Given the description of an element on the screen output the (x, y) to click on. 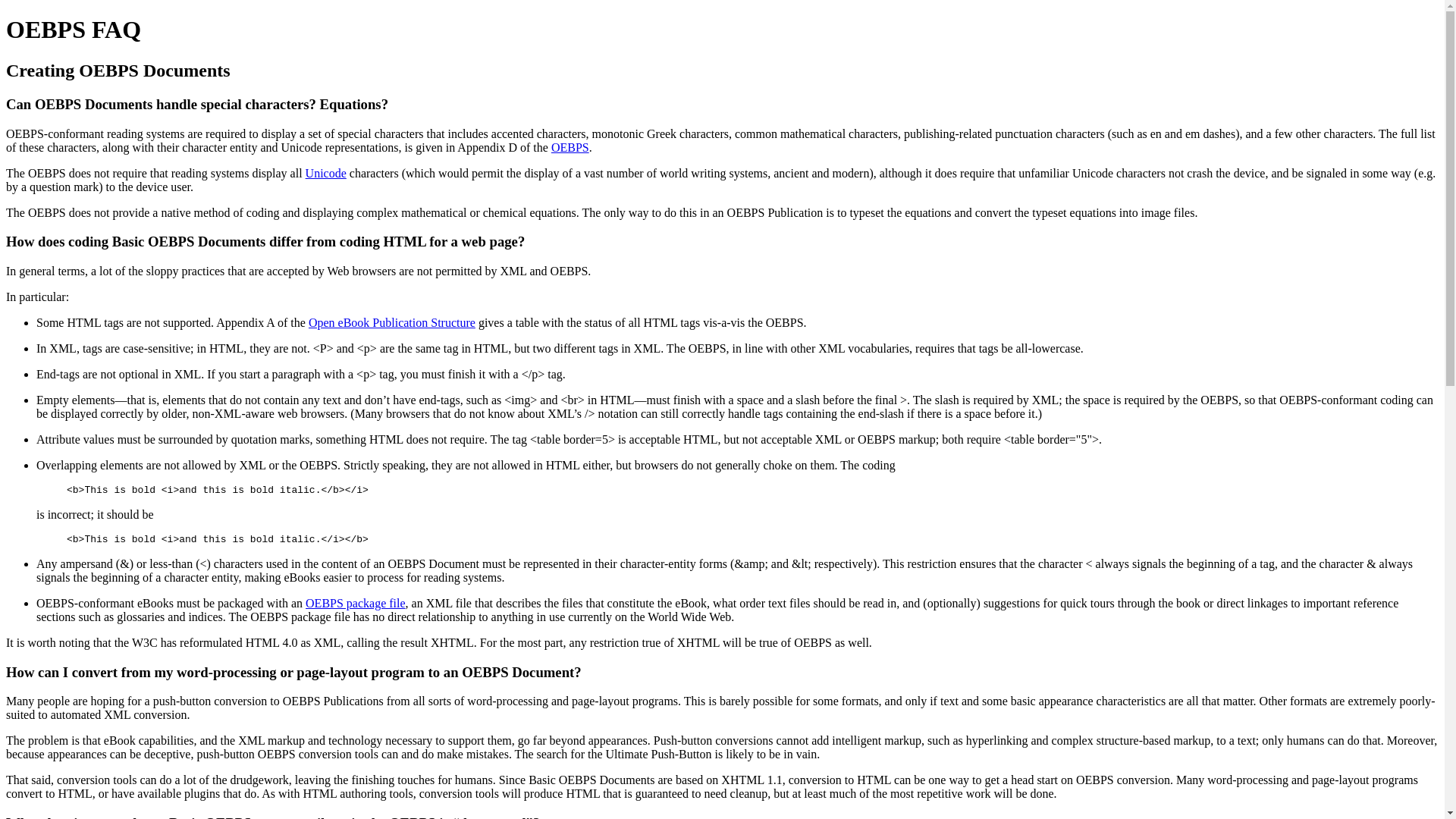
OEBPS package file (355, 603)
Unicode (325, 173)
Open eBook Publication Structure (392, 322)
OEBPS (570, 146)
